Given the description of an element on the screen output the (x, y) to click on. 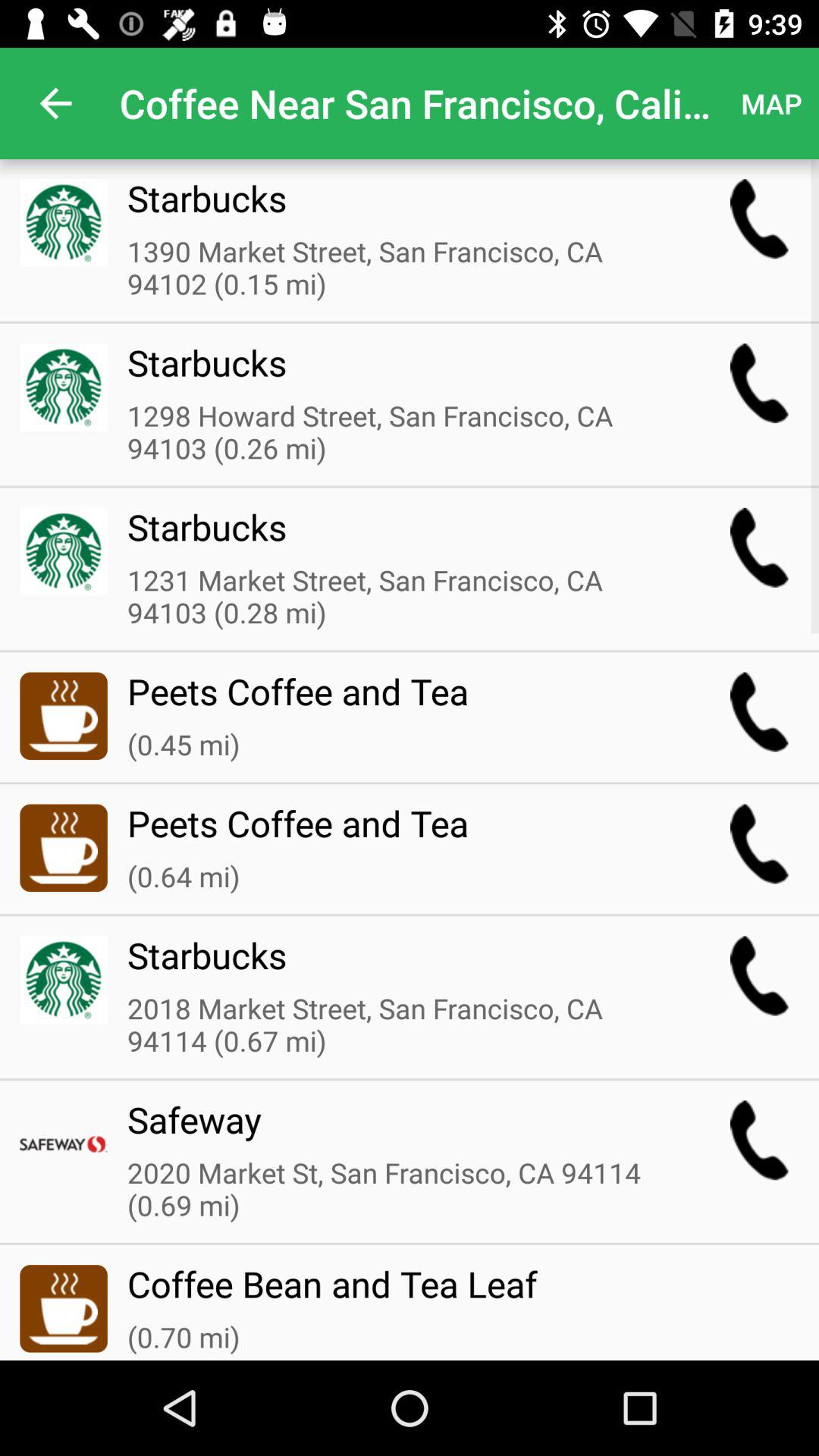
turn on the item next to the coffee near san (771, 103)
